Given the description of an element on the screen output the (x, y) to click on. 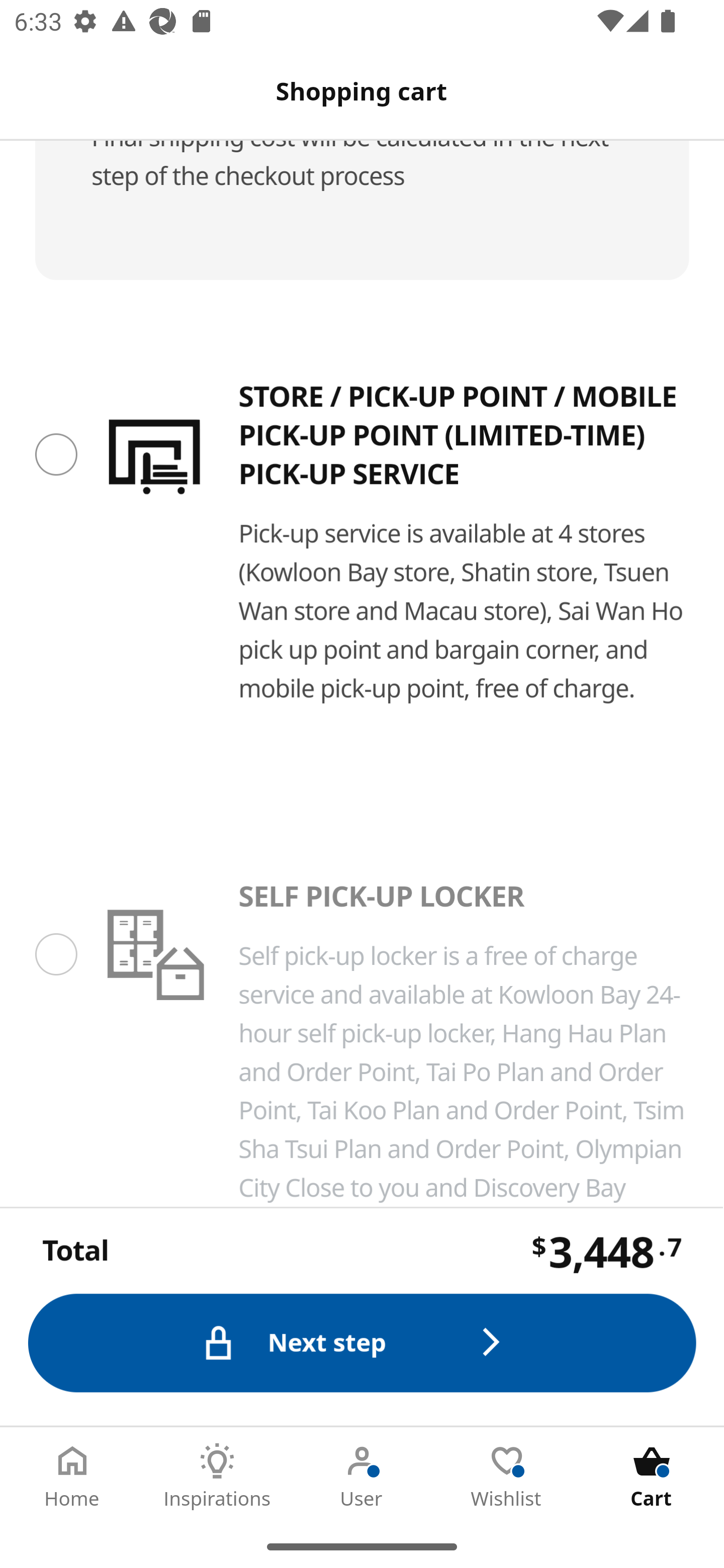
Home
Tab 1 of 5 (72, 1476)
Inspirations
Tab 2 of 5 (216, 1476)
User
Tab 3 of 5 (361, 1476)
Wishlist
Tab 4 of 5 (506, 1476)
Cart
Tab 5 of 5 (651, 1476)
